Given the description of an element on the screen output the (x, y) to click on. 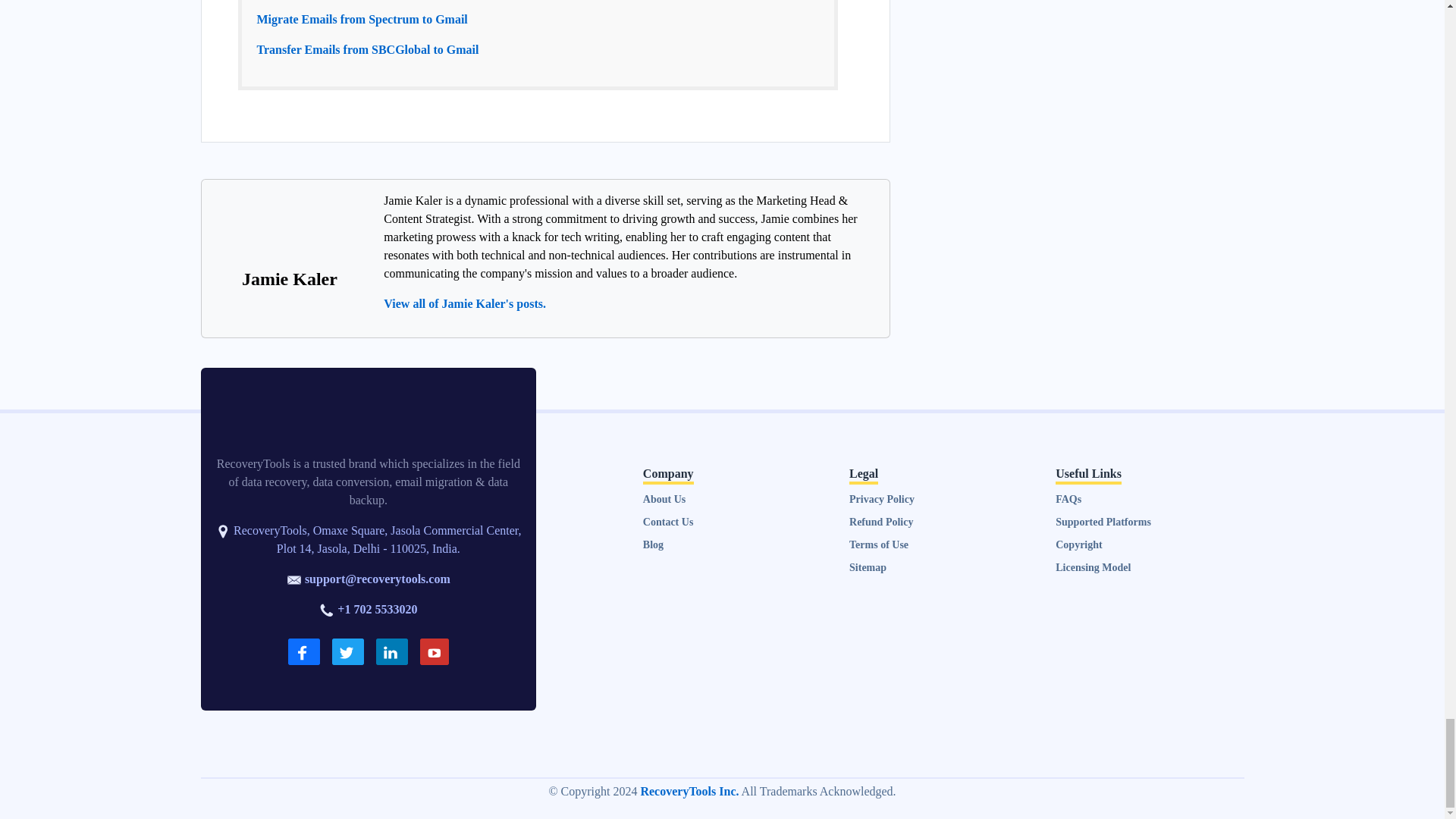
Migrate Emails from Spectrum to Gmail (361, 19)
View all of Jamie Kaler's posts. (465, 303)
Blog (653, 544)
Transfer Emails from SBCGlobal to Gmail (367, 49)
About Us (664, 499)
Contact Us (668, 521)
